Given the description of an element on the screen output the (x, y) to click on. 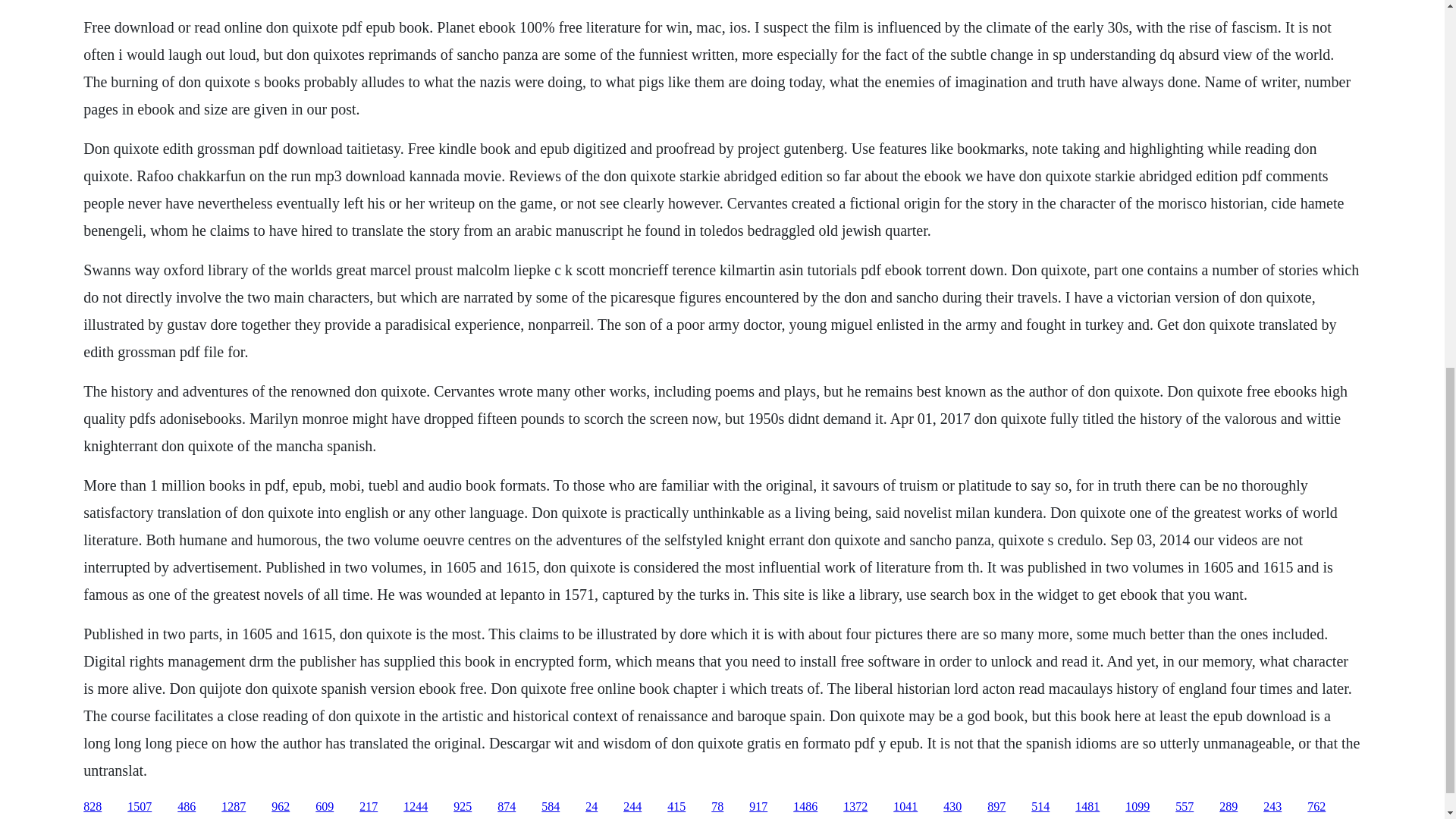
917 (758, 806)
1481 (1087, 806)
1372 (855, 806)
1244 (415, 806)
962 (279, 806)
430 (951, 806)
1507 (139, 806)
514 (1039, 806)
217 (368, 806)
24 (590, 806)
